Given the description of an element on the screen output the (x, y) to click on. 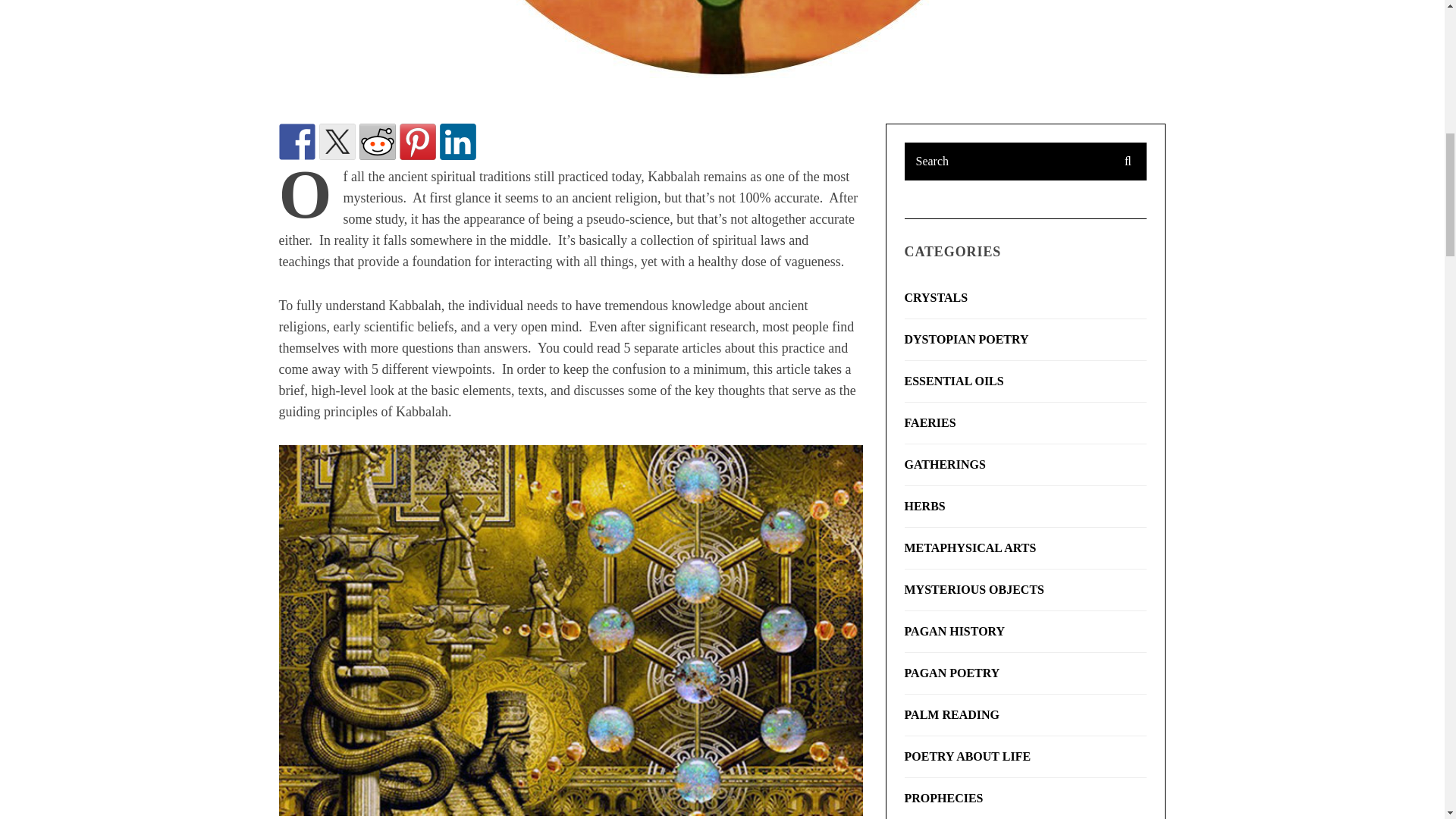
Share on Linkedin (457, 141)
Search (1025, 161)
Pin It! (416, 141)
Share on Twitter (336, 141)
Share on Reddit (377, 141)
Share on Facebook (297, 141)
